Given the description of an element on the screen output the (x, y) to click on. 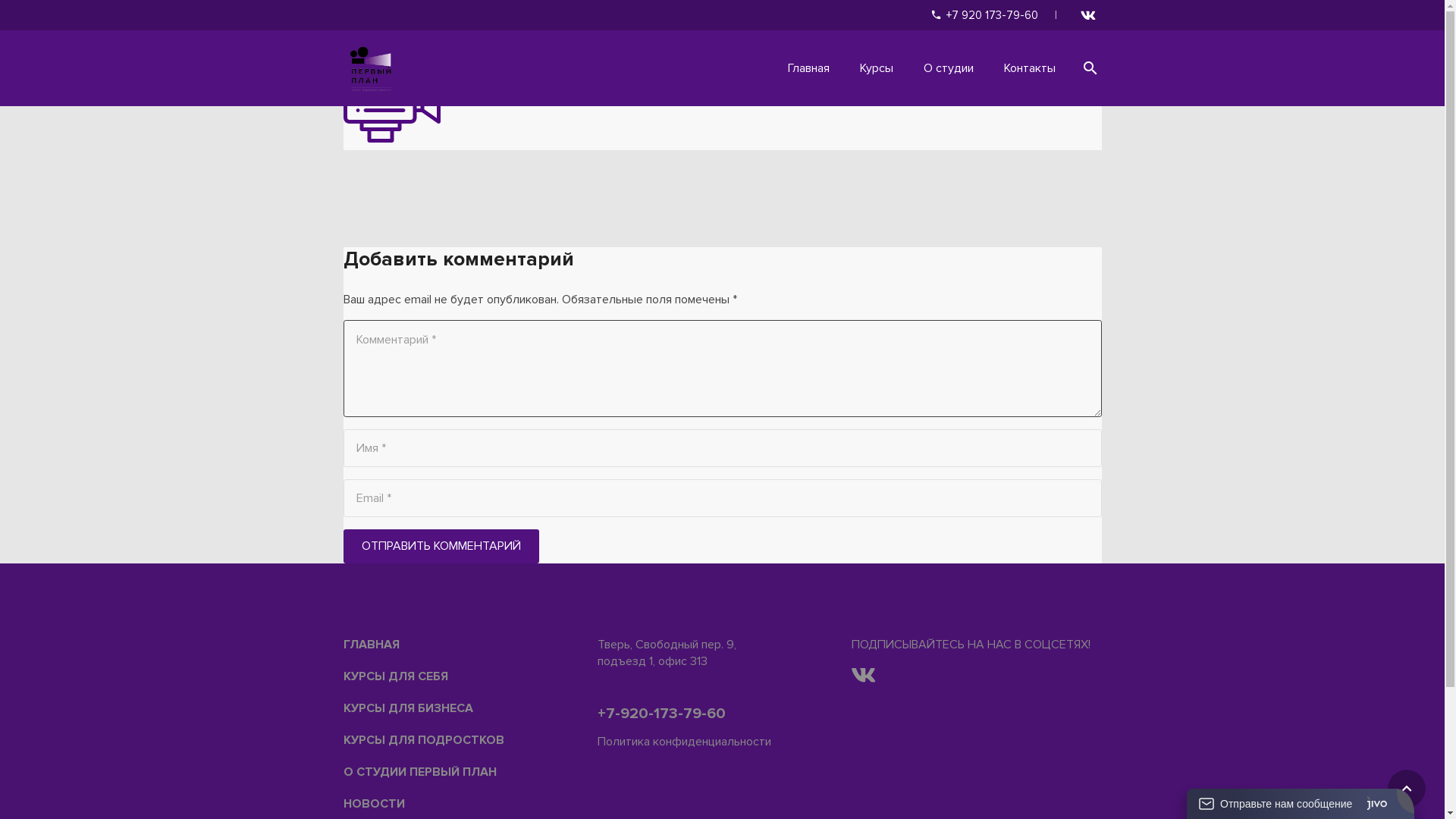
search Element type: text (1090, 68)
+7-920-173-79-60 Element type: text (661, 713)
Vkontakte Element type: hover (1087, 14)
